Given the description of an element on the screen output the (x, y) to click on. 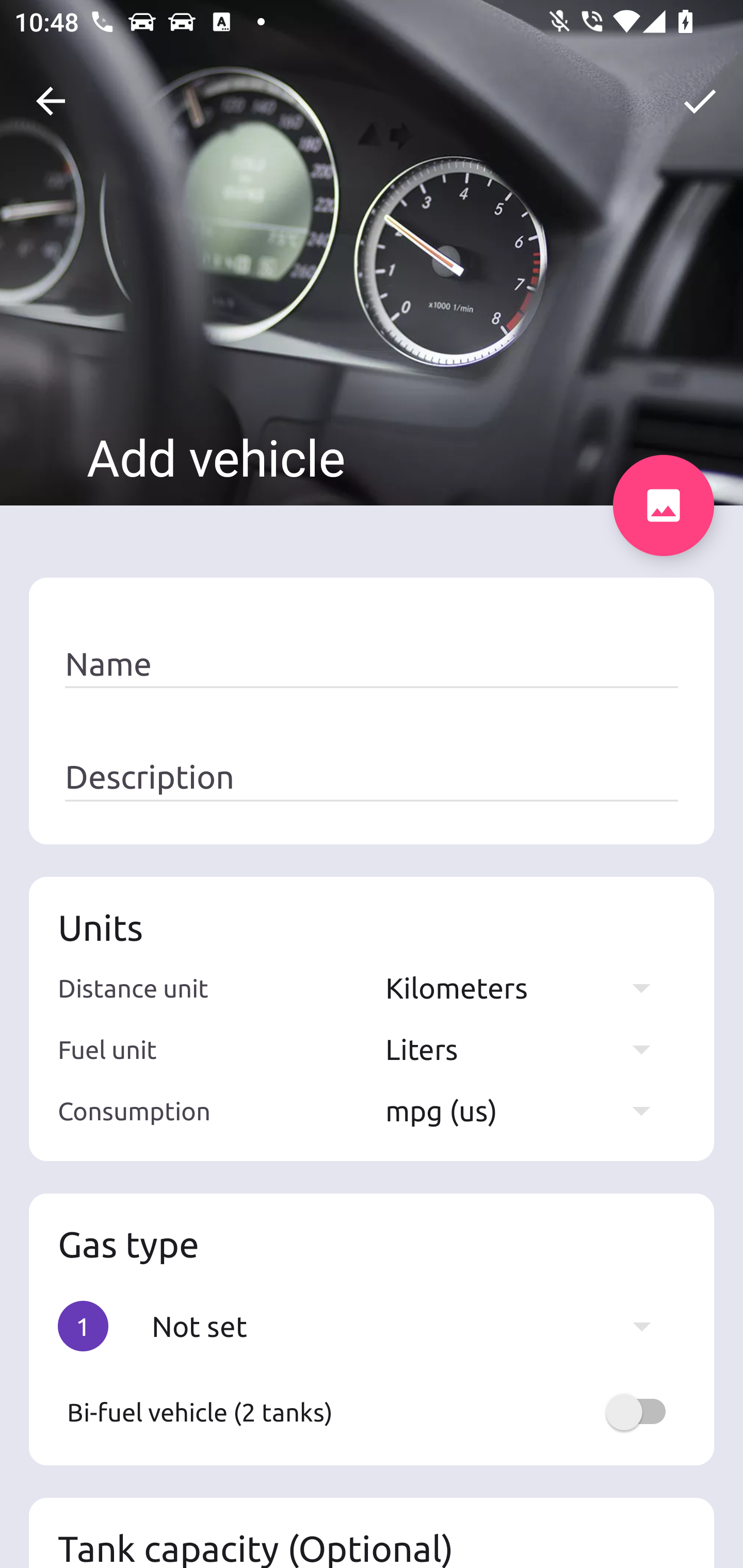
Navigate up (50, 101)
OK (699, 101)
Name (371, 664)
Description (371, 777)
Kilometers (527, 987)
Liters (527, 1048)
mpg (us) (527, 1110)
Not set (411, 1325)
Bi-fuel vehicle (2 tanks) (371, 1411)
